Given the description of an element on the screen output the (x, y) to click on. 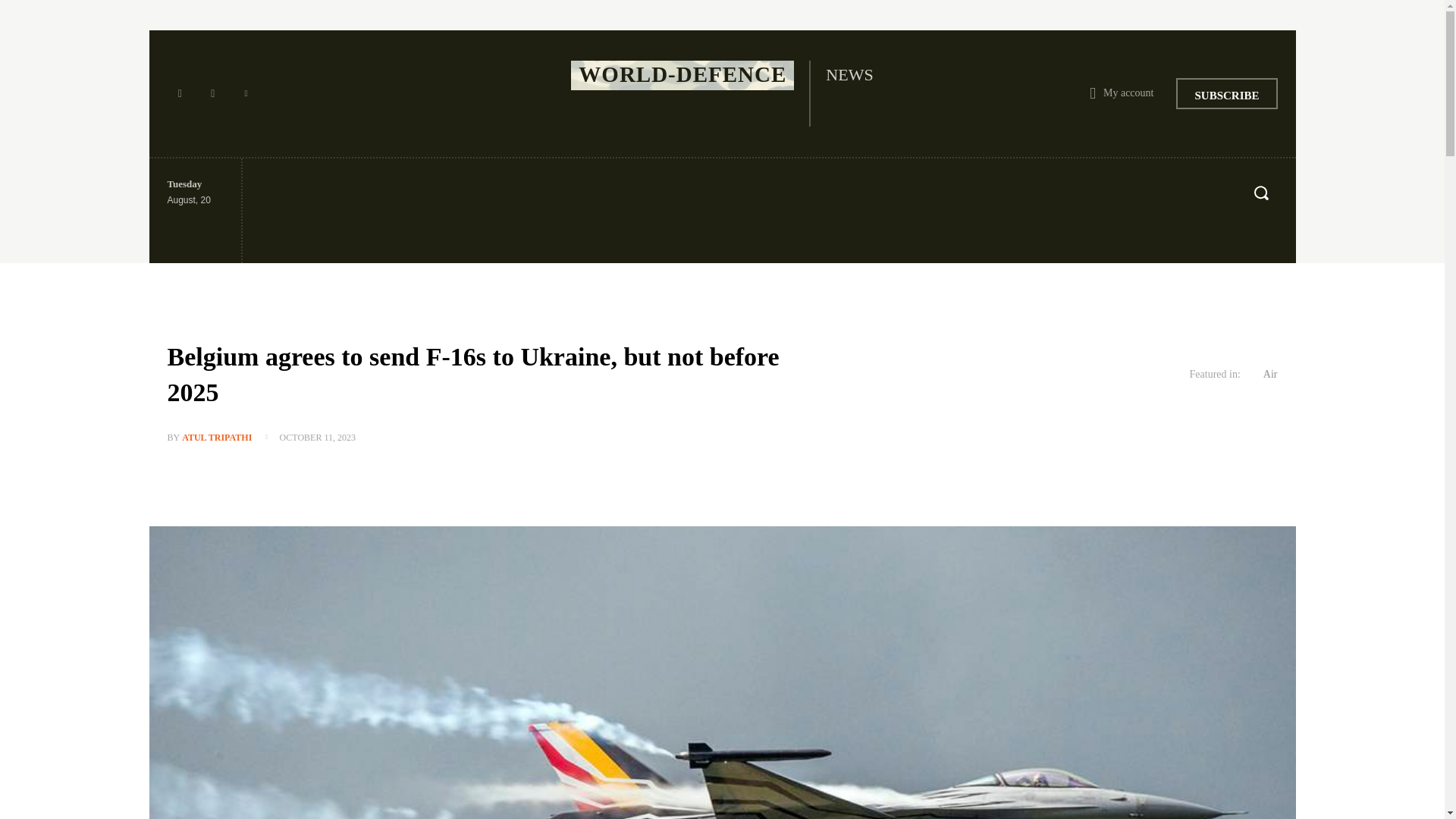
Linkedin (245, 94)
Facebook (179, 94)
Instagram (212, 94)
